Given the description of an element on the screen output the (x, y) to click on. 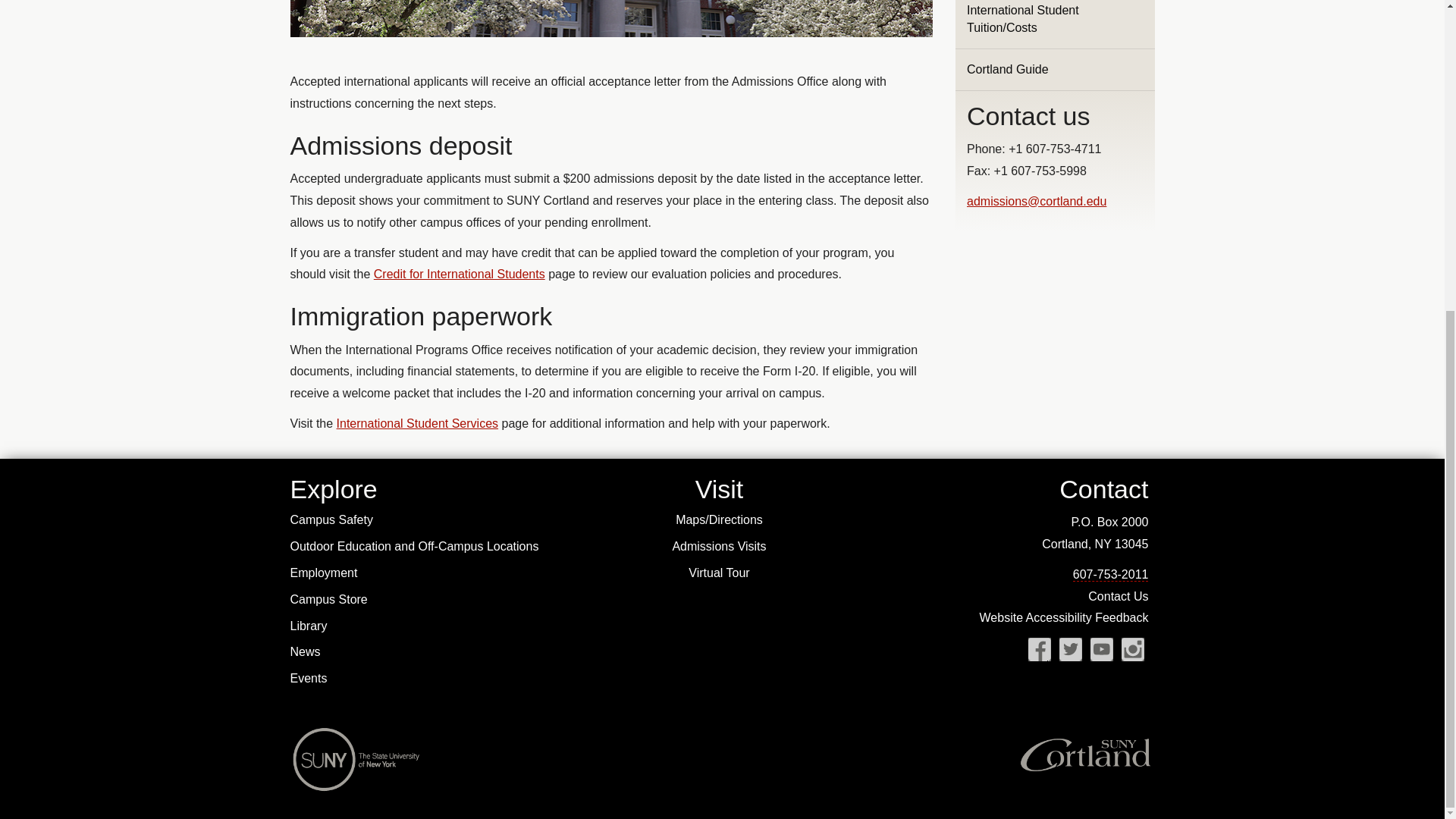
International Student Services (416, 422)
